Given the description of an element on the screen output the (x, y) to click on. 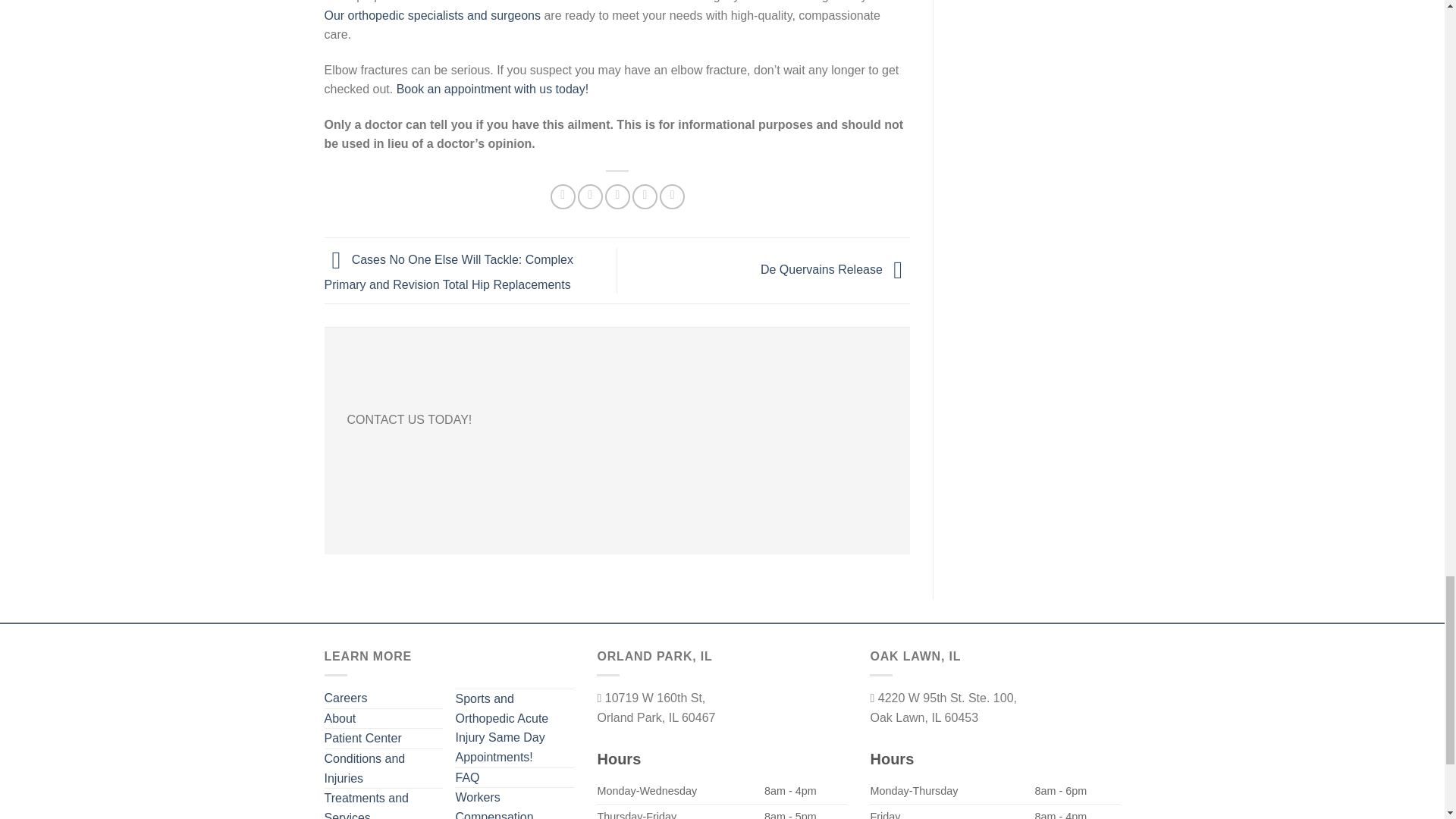
Email to a Friend (617, 196)
Share on LinkedIn (671, 196)
Pin on Pinterest (644, 196)
Share on Facebook (562, 196)
Share on Twitter (590, 196)
